Given the description of an element on the screen output the (x, y) to click on. 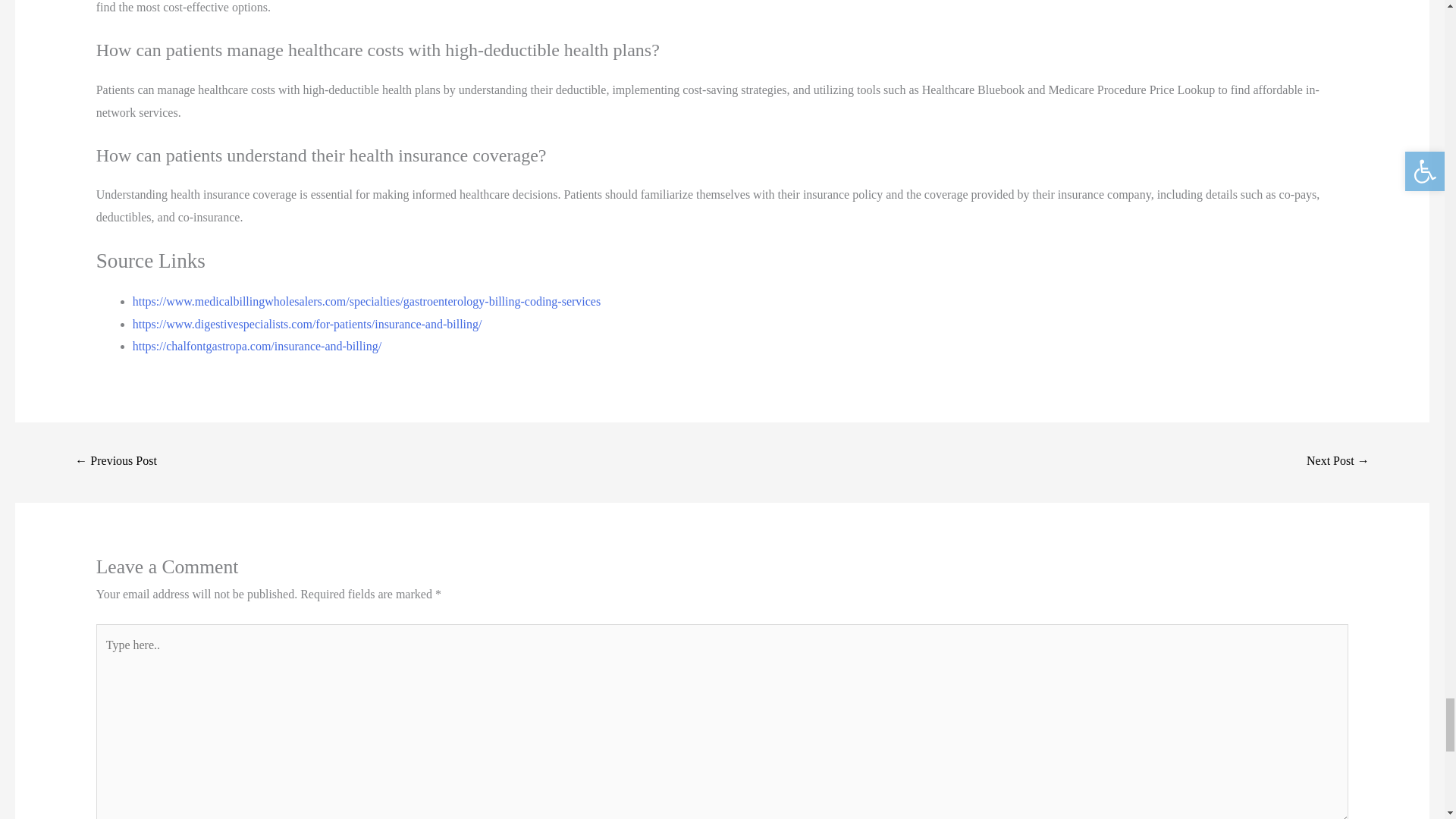
Enhance Medical Billing Customer Experience (115, 461)
Transurethral Resection of Prostate Billing Guide (1337, 461)
